Given the description of an element on the screen output the (x, y) to click on. 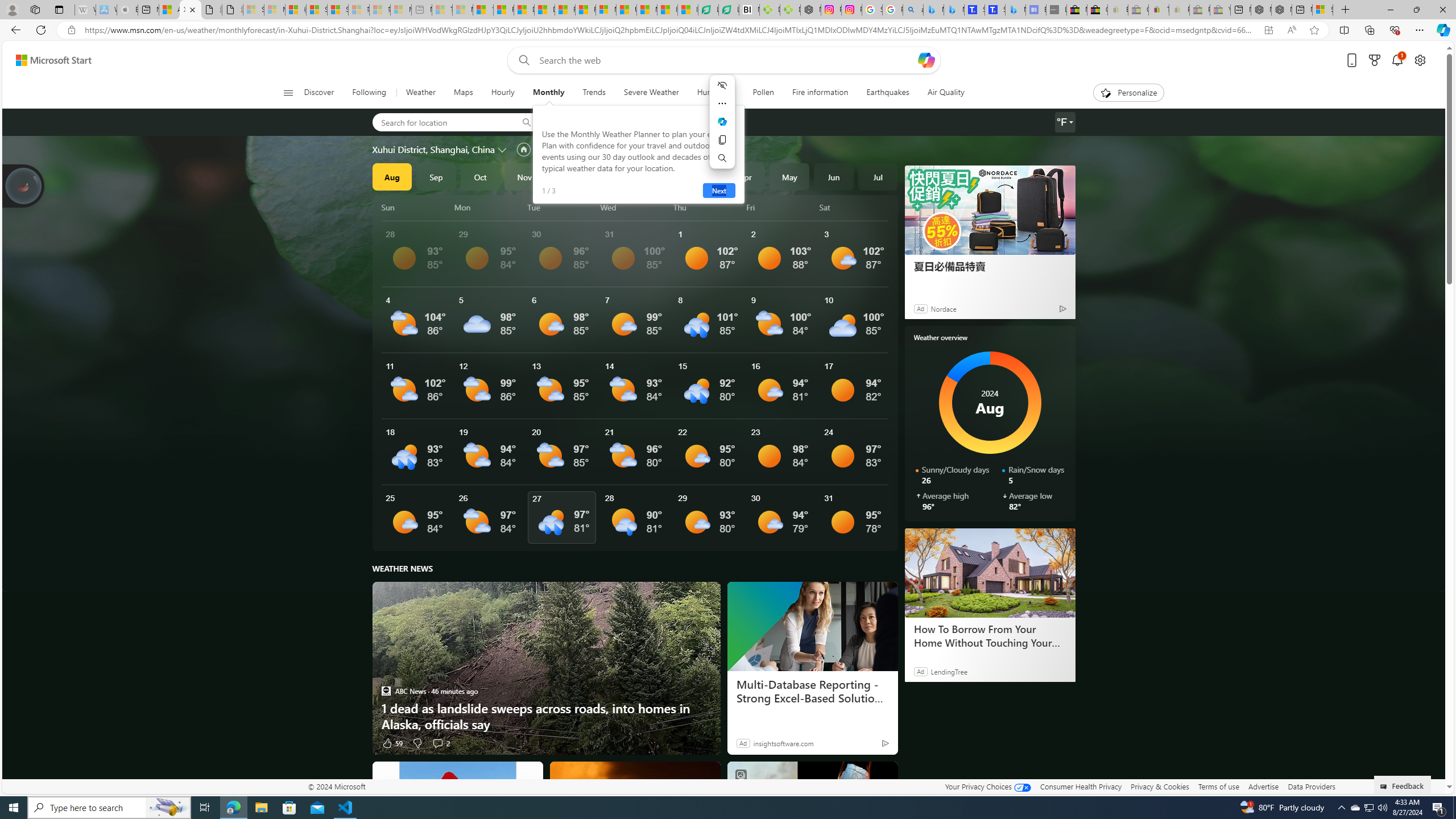
Sign in to your Microsoft account - Sleeping (253, 9)
Microsoft Services Agreement - Sleeping (274, 9)
May (789, 176)
Air Quality (940, 92)
Thu (707, 207)
Wed (634, 207)
Microsoft Bing Travel - Flights from Hong Kong to Bangkok (933, 9)
